Given the description of an element on the screen output the (x, y) to click on. 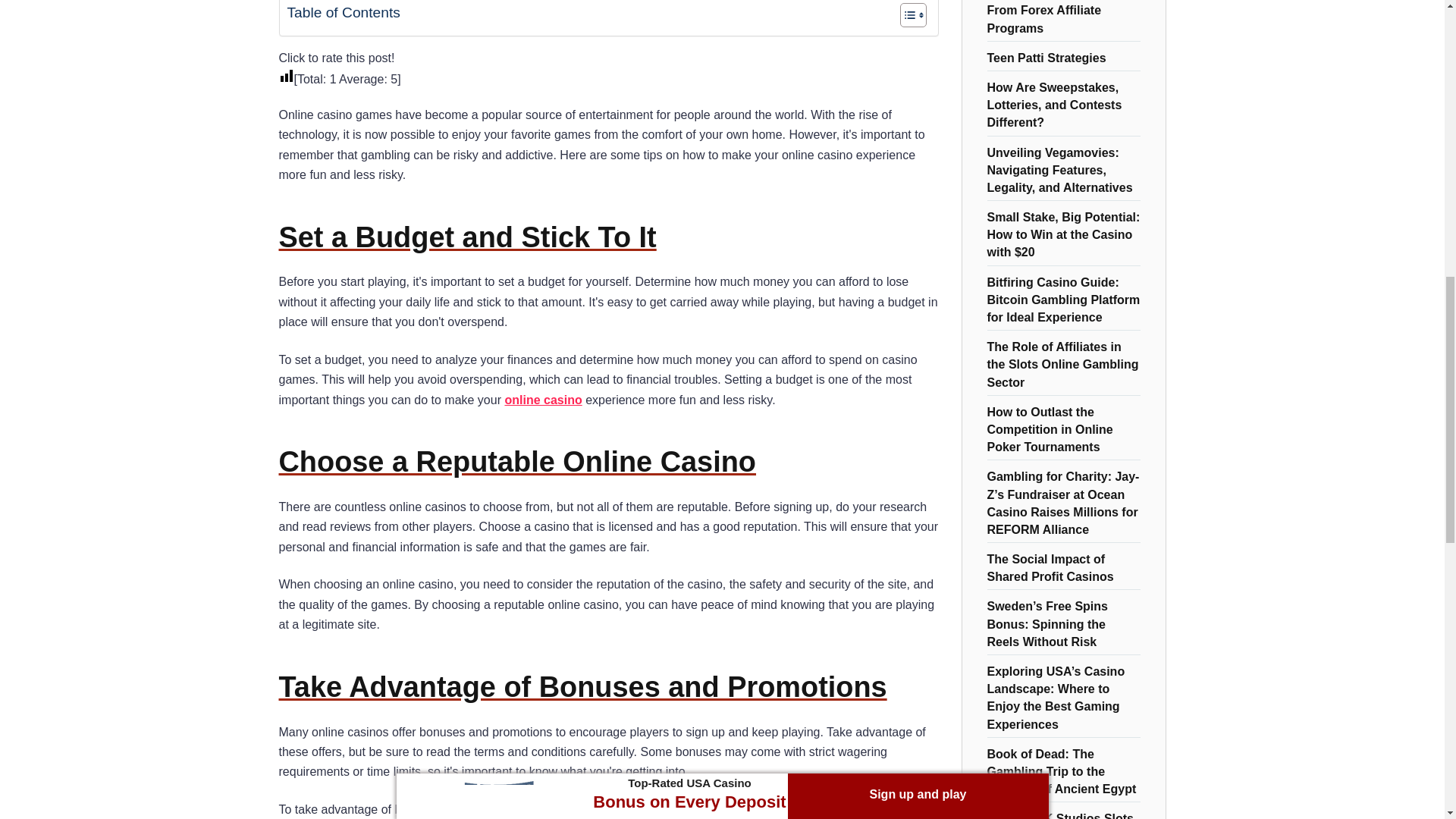
How Are Sweepstakes, Lotteries, and Contests Different? (1054, 103)
online casino (541, 399)
The Social Impact of Shared Profit Casinos (1050, 567)
5 Ways You Can Benefit From Forex Affiliate Programs (1055, 18)
The Role of Affiliates in the Slots Online Gambling Sector (1062, 363)
How to Outlast the Competition in Online Poker Tournaments (1050, 428)
Teen Patti Strategies (1046, 56)
